Given the description of an element on the screen output the (x, y) to click on. 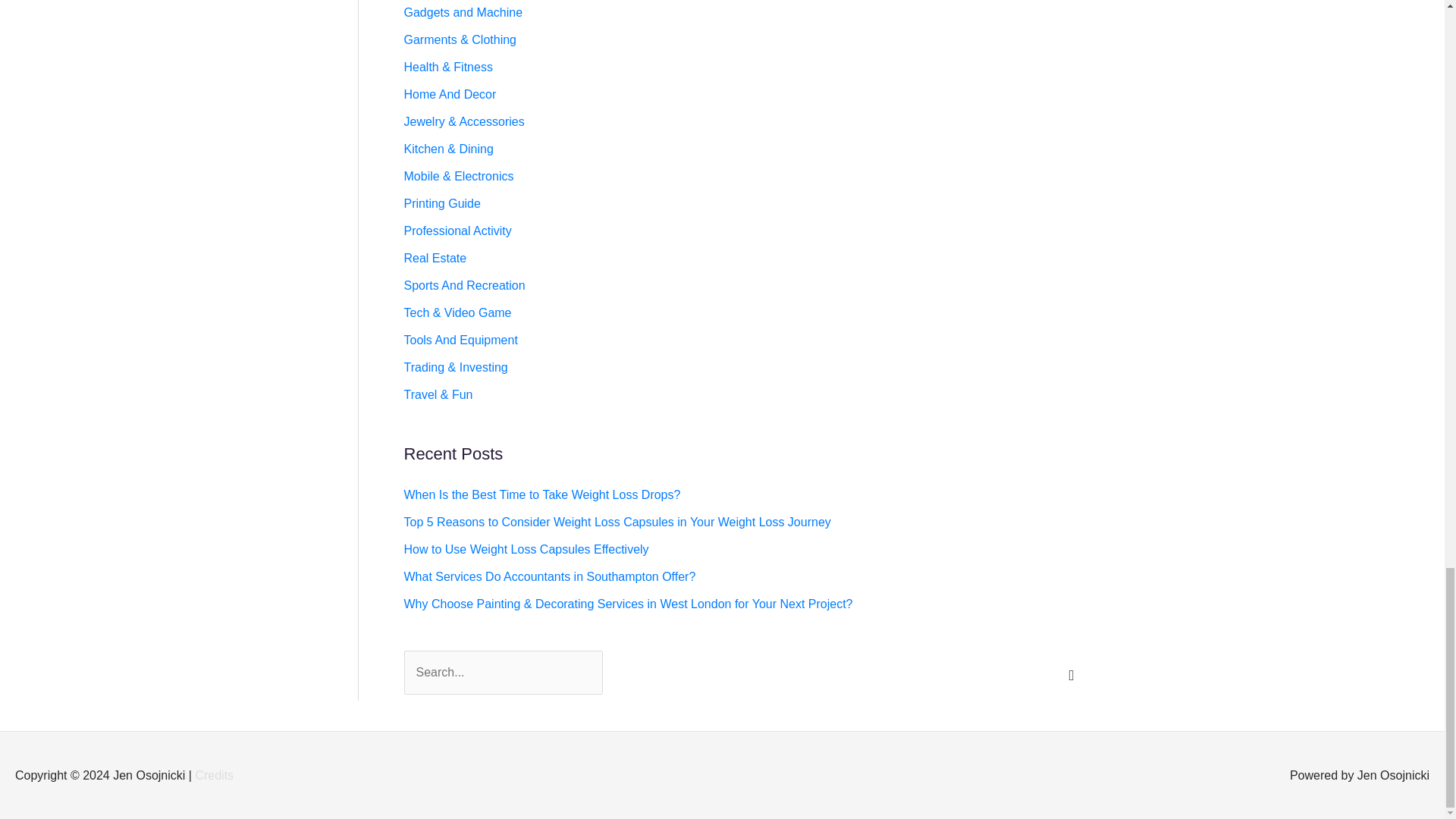
What Services Do Accountants in Southampton Offer? (549, 576)
Sports And Recreation (463, 285)
Real Estate (434, 257)
When Is the Best Time to Take Weight Loss Drops? (541, 494)
Gadgets and Machine (462, 11)
Home And Decor (449, 93)
Printing Guide (441, 203)
How to Use Weight Loss Capsules Effectively (525, 549)
Professional Activity (457, 230)
